Given the description of an element on the screen output the (x, y) to click on. 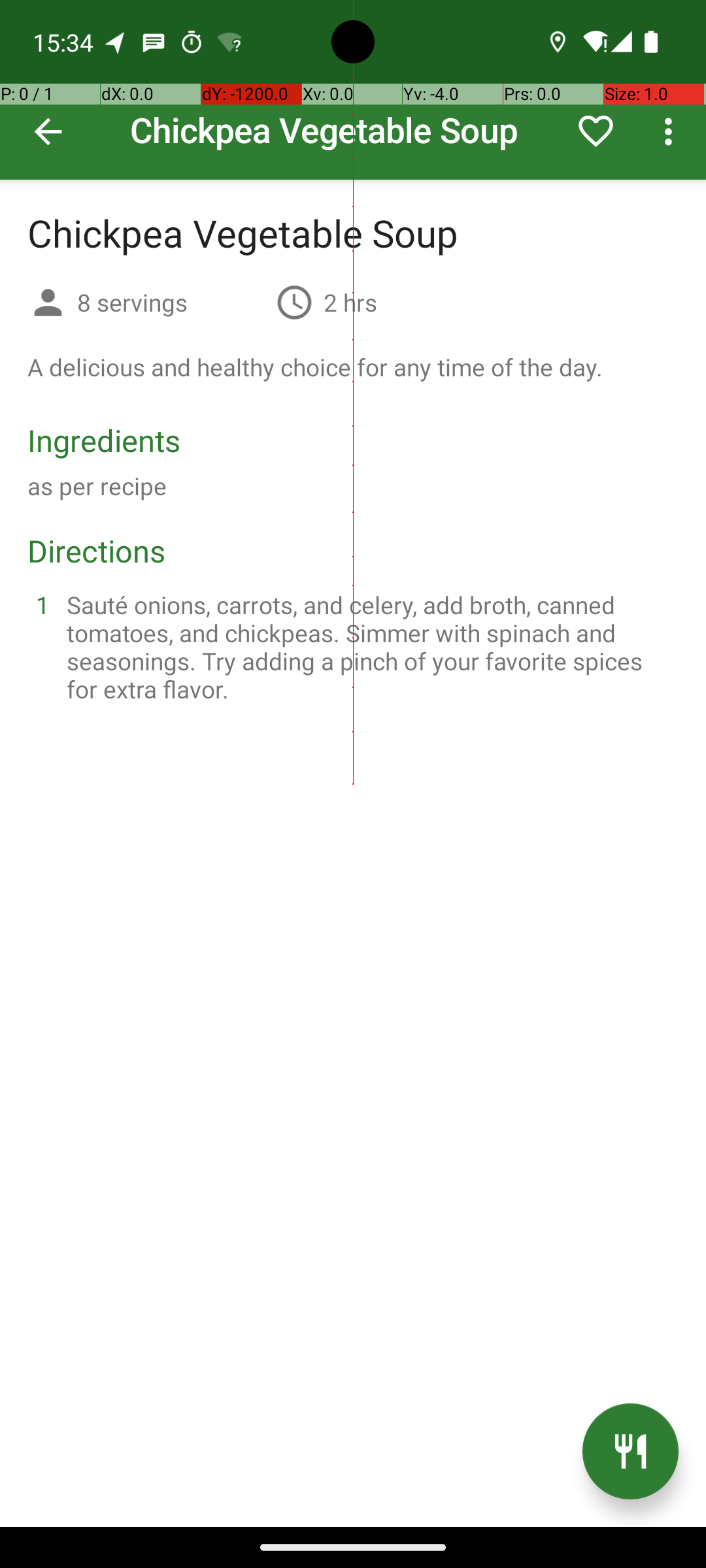
Sauté onions, carrots, and celery, add broth, canned tomatoes, and chickpeas. Simmer with spinach and seasonings. Try adding a pinch of your favorite spices for extra flavor. Element type: android.widget.TextView (368, 646)
